Given the description of an element on the screen output the (x, y) to click on. 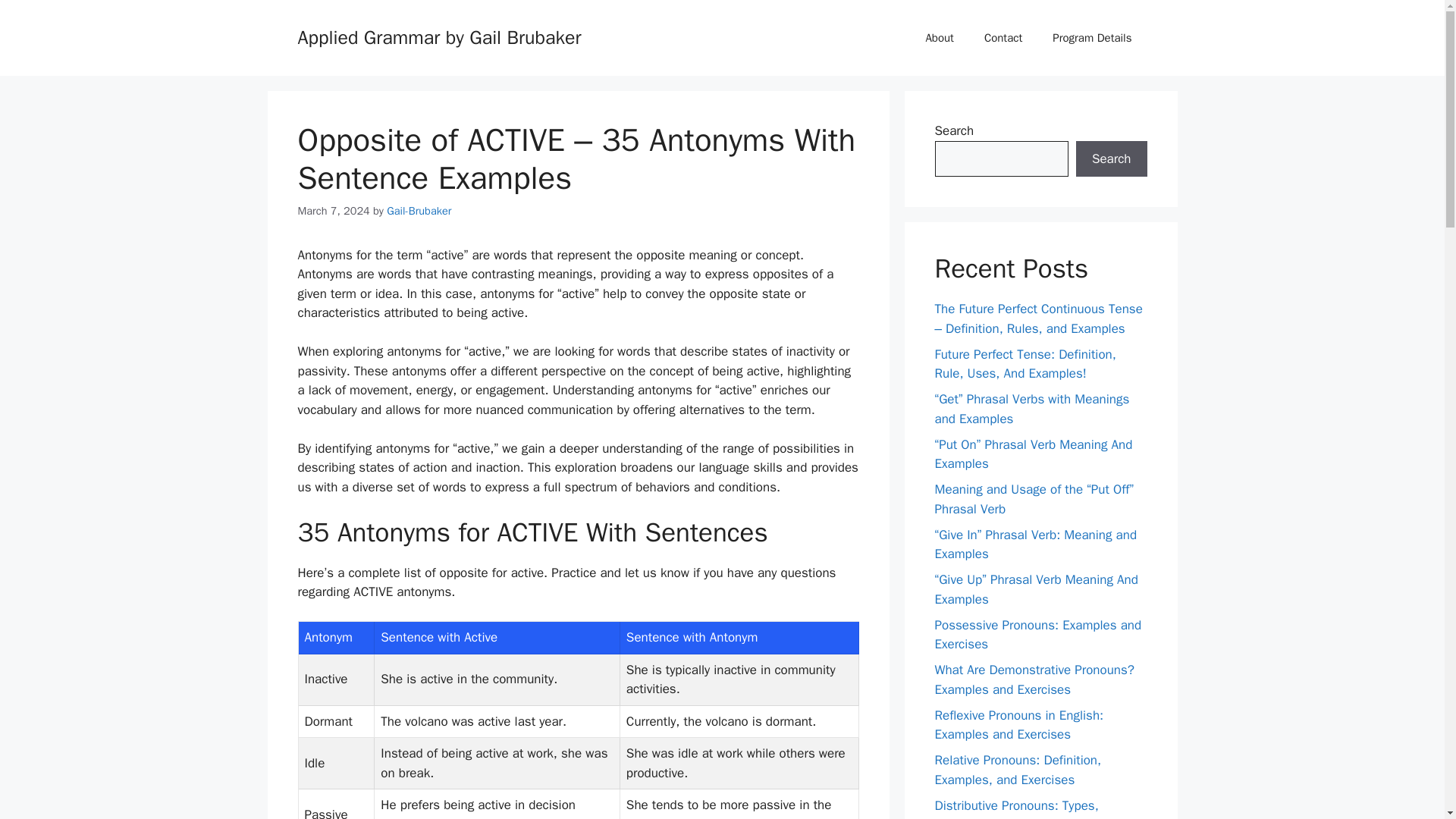
View all posts by Gail-Brubaker (419, 210)
Reflexive Pronouns in English: Examples and Exercises (1018, 724)
What Are Demonstrative Pronouns? Examples and Exercises (1034, 679)
Relative Pronouns: Definition, Examples, and Exercises (1017, 769)
Possessive Pronouns: Examples and Exercises (1037, 634)
Program Details (1091, 37)
Contact (1002, 37)
Applied Grammar by Gail Brubaker (438, 37)
About (939, 37)
Search (1111, 158)
Gail-Brubaker (419, 210)
Future Perfect Tense: Definition, Rule, Uses, And Examples! (1024, 363)
Distributive Pronouns: Types, Examples, and Usage (1015, 808)
